Given the description of an element on the screen output the (x, y) to click on. 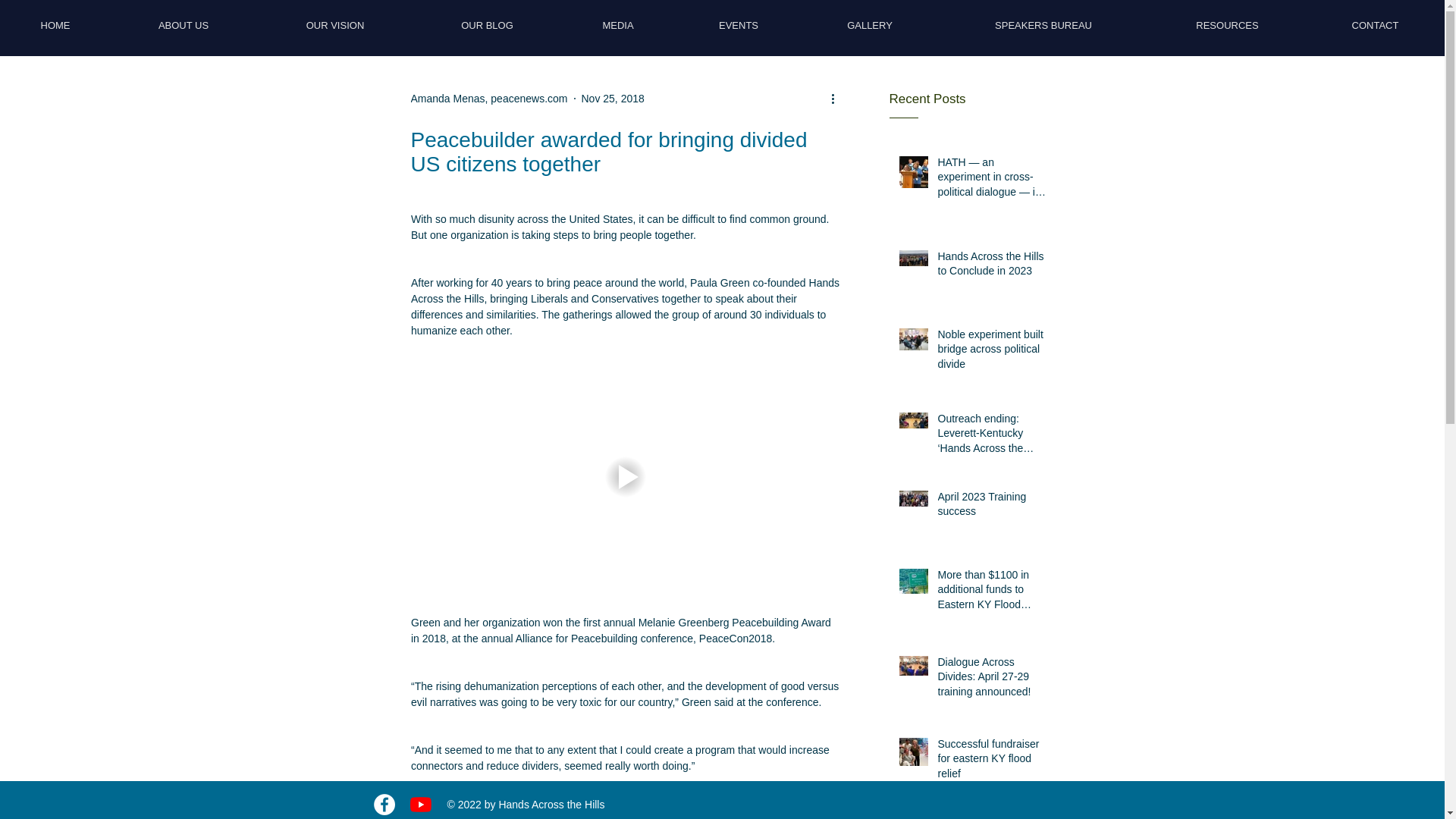
SPEAKERS BUREAU (1042, 25)
Successful fundraiser for eastern KY flood relief (991, 762)
MEDIA (617, 25)
GALLERY (869, 25)
Noble experiment built bridge across political divide (991, 352)
April 2023 Training success (991, 507)
Nov 25, 2018 (611, 98)
RESOURCES (1227, 25)
Hands Across the Hills to Conclude in 2023 (991, 267)
ABOUT US (183, 25)
